Given the description of an element on the screen output the (x, y) to click on. 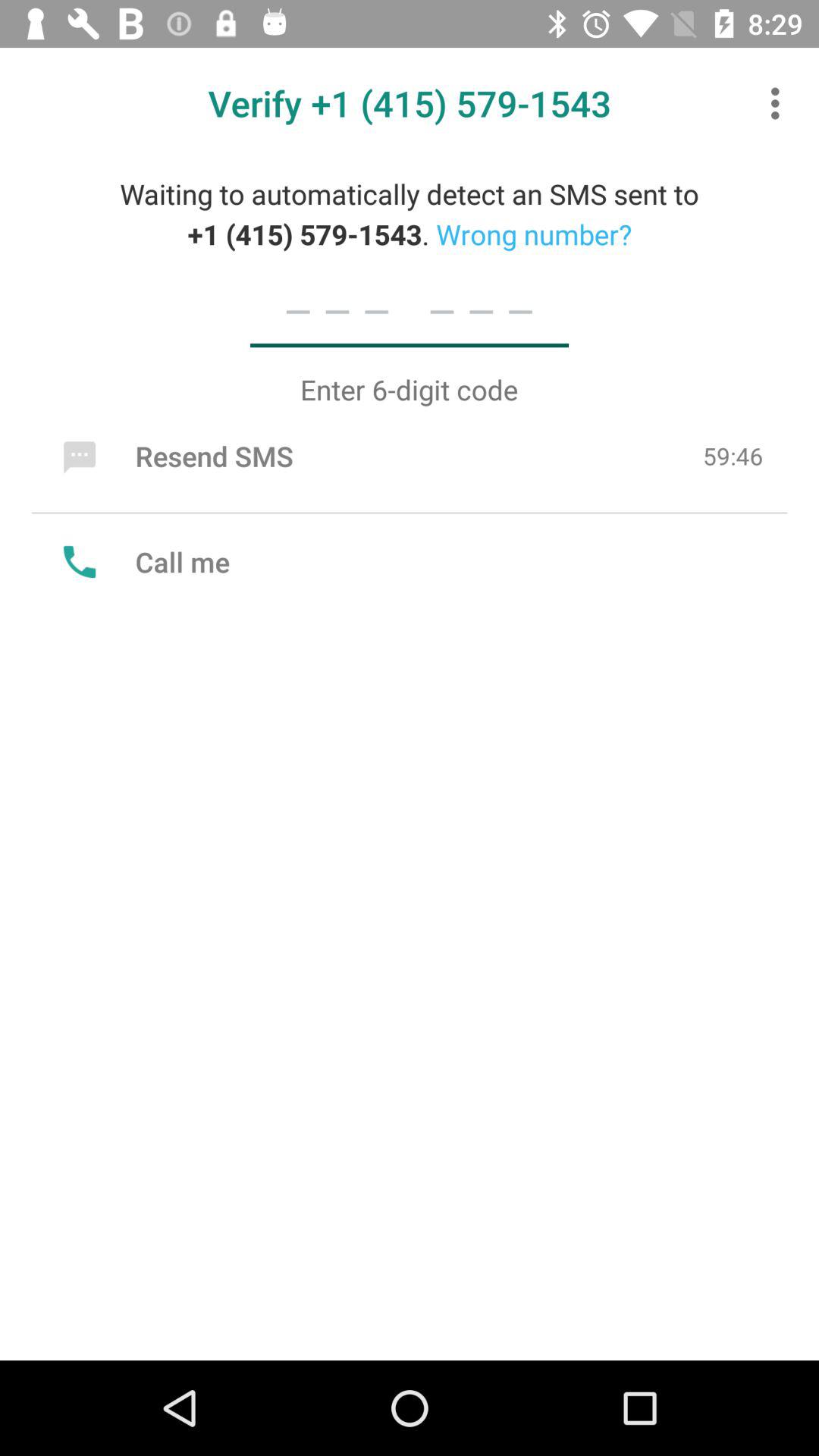
open call me icon (142, 561)
